Given the description of an element on the screen output the (x, y) to click on. 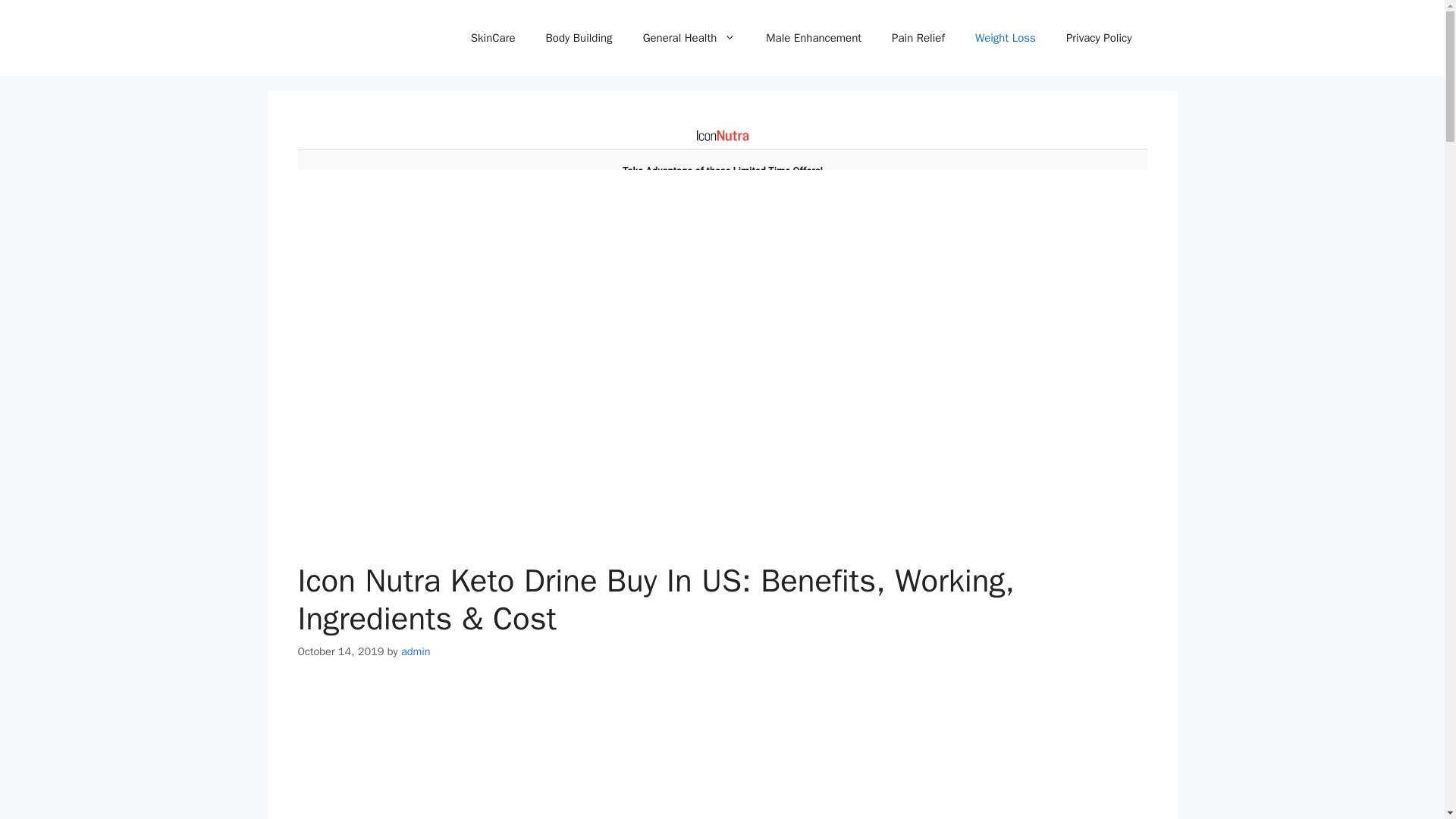
Weight Loss (1005, 37)
SkinCare (493, 37)
Body Building (579, 37)
View all posts by admin (415, 651)
General Health (689, 37)
Privacy Policy (1099, 37)
Male Enhancement (813, 37)
admin (415, 651)
Pain Relief (917, 37)
